Given the description of an element on the screen output the (x, y) to click on. 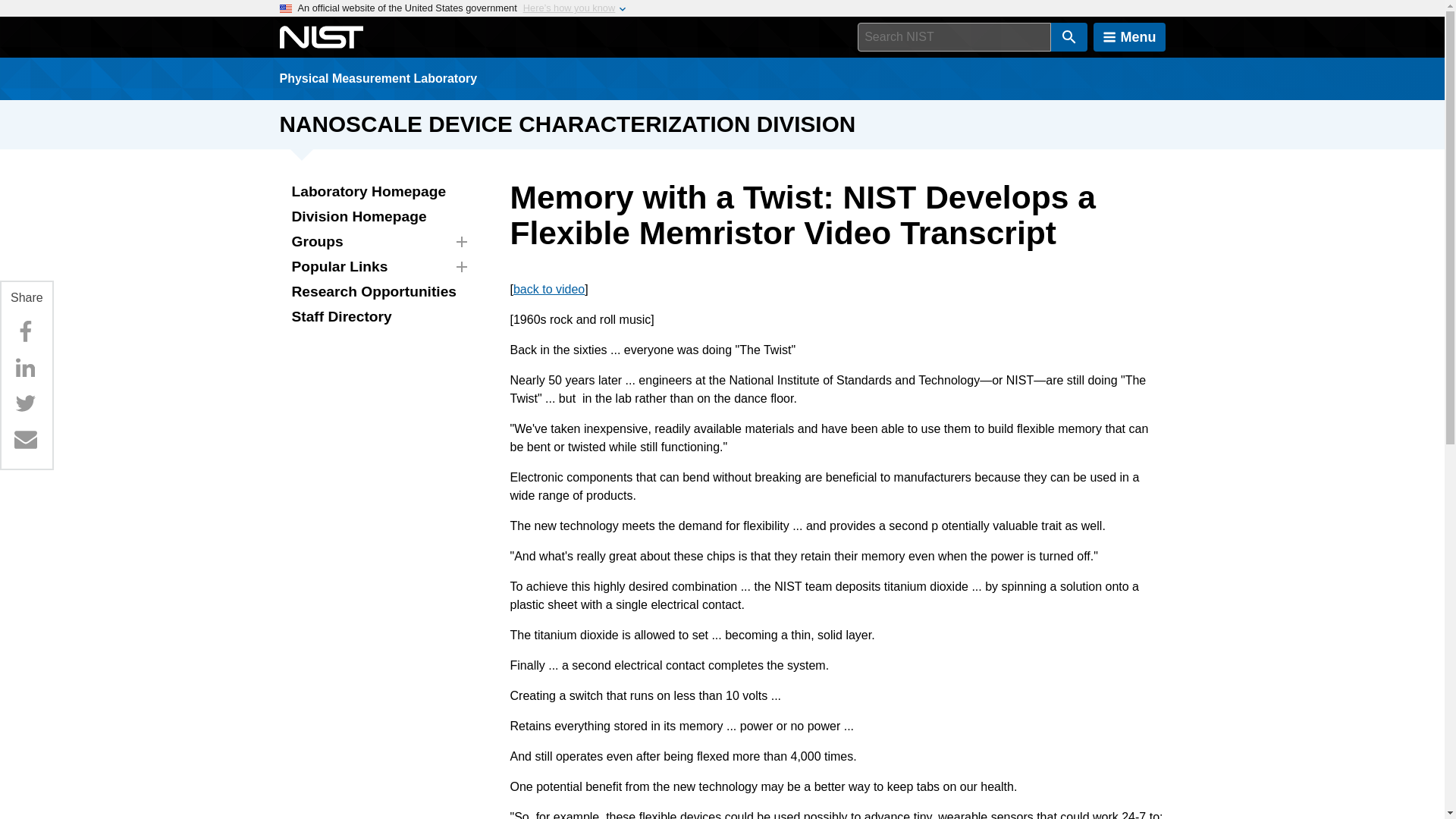
back to video (549, 288)
NANOSCALE DEVICE CHARACTERIZATION DIVISION (567, 123)
Linkedin (25, 367)
Email (25, 439)
Menu (1129, 36)
Facebook (25, 331)
Research Opportunities (376, 292)
Physical Measurement Laboratory (378, 78)
Laboratory Homepage (376, 191)
Staff Directory (376, 317)
National Institute of Standards and Technology (320, 36)
Twitter (25, 403)
Groups (376, 242)
Popular Links (376, 267)
